Given the description of an element on the screen output the (x, y) to click on. 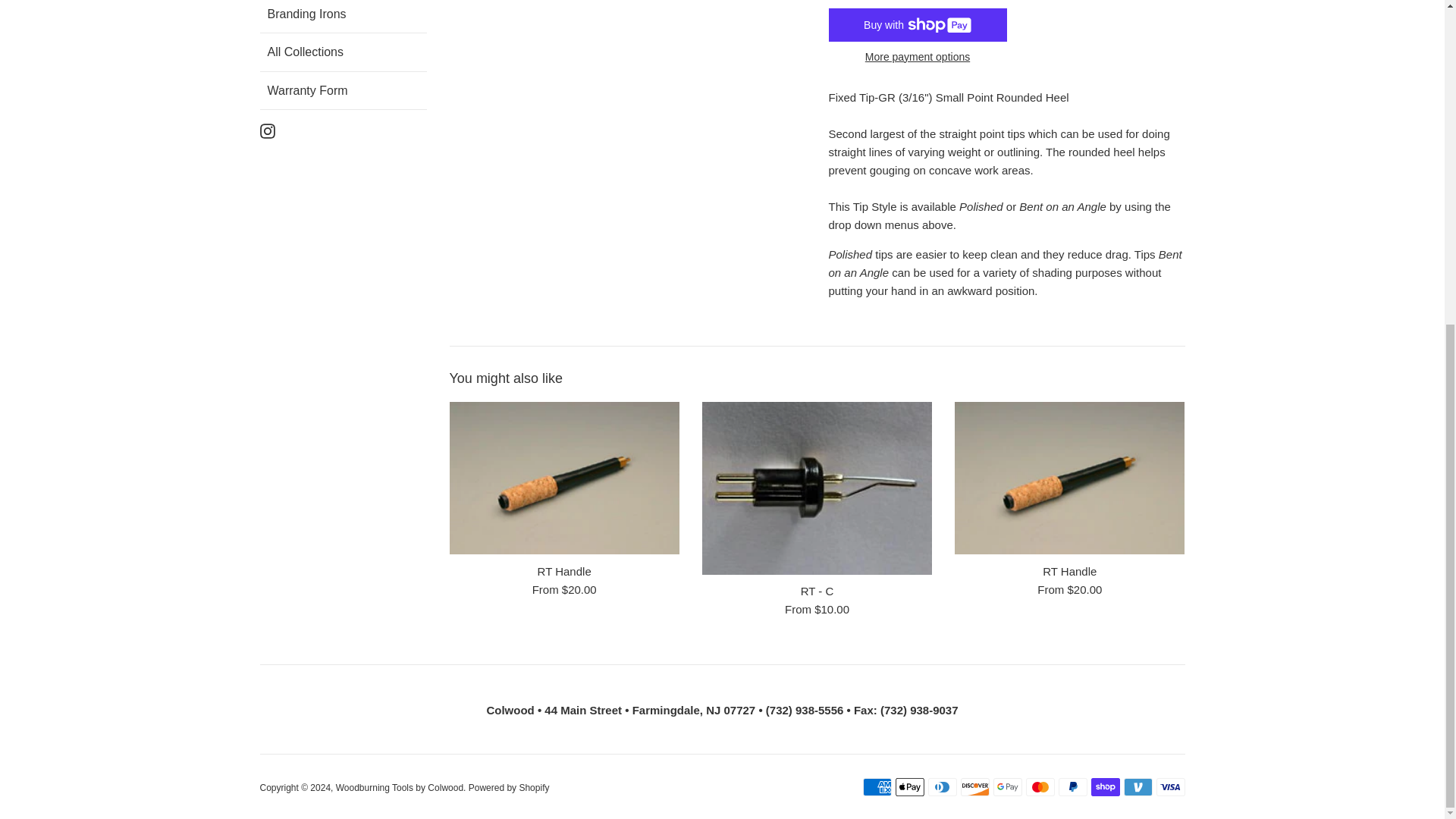
Woodburning Tools by Colwood on Instagram (267, 129)
PayPal (1072, 787)
Visa (1170, 787)
Discover (973, 787)
RT - C (816, 488)
All Collections (346, 52)
Diners Club (942, 787)
Instagram (267, 129)
Shop Pay (1104, 787)
American Express (877, 787)
Google Pay (1007, 787)
Branding Irons (346, 16)
Apple Pay (909, 787)
Mastercard (1039, 787)
Venmo (1138, 787)
